Given the description of an element on the screen output the (x, y) to click on. 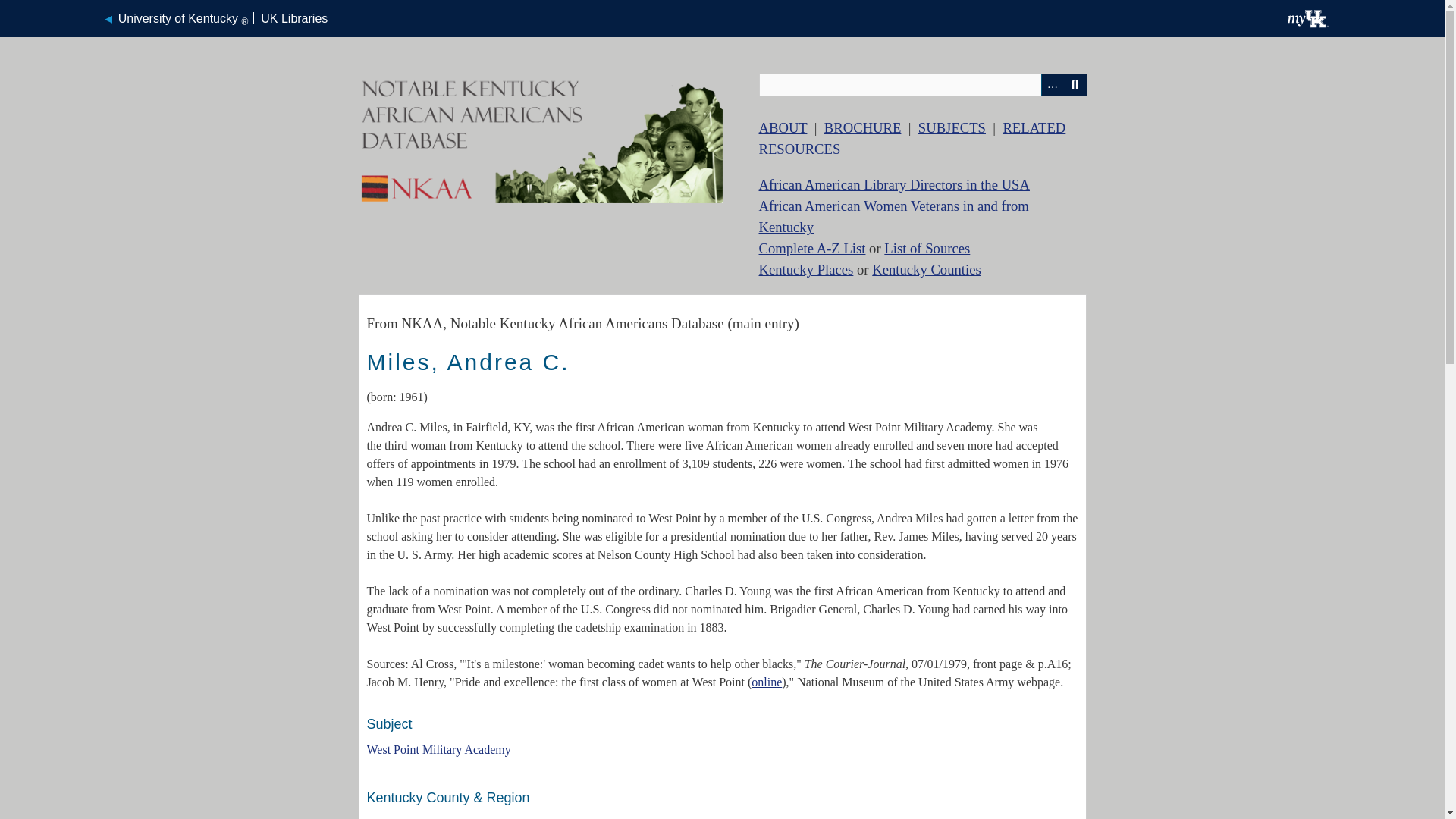
Complete A-Z List (811, 248)
ABOUT (782, 127)
UK Libraries (293, 18)
Kentucky Places (805, 269)
SUBJECTS (951, 127)
Advanced Search (1051, 84)
West Point Military Academy (438, 748)
online (766, 681)
African American Library Directors in the USA (893, 184)
RELATED RESOURCES (911, 138)
African American Women Veterans in and from Kentucky (892, 216)
BROCHURE (862, 127)
Search (1074, 84)
Back to University of Kentucky home page (175, 18)
